Given the description of an element on the screen output the (x, y) to click on. 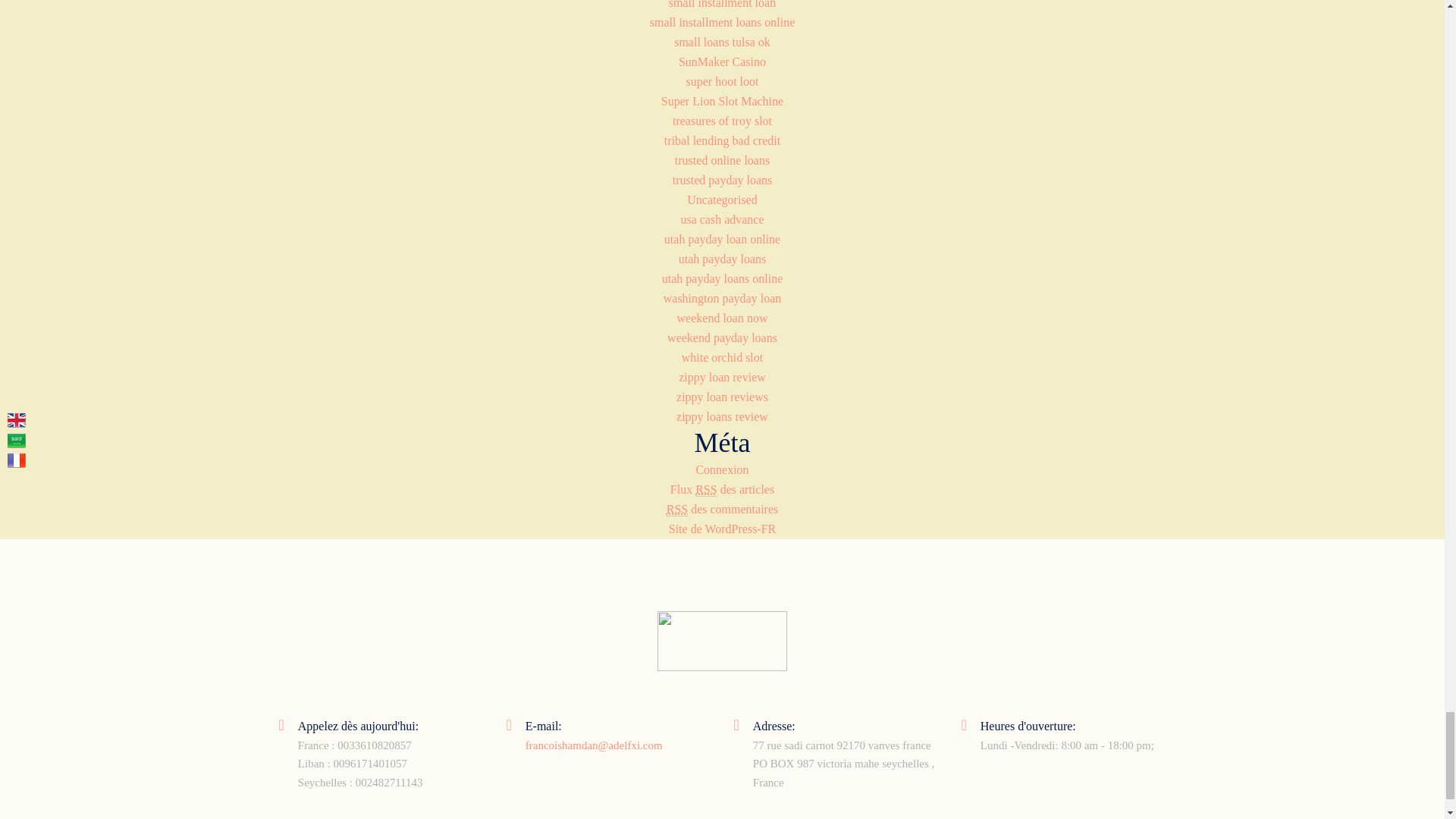
Really Simple Syndication (705, 489)
Really Simple Syndication (676, 509)
